Given the description of an element on the screen output the (x, y) to click on. 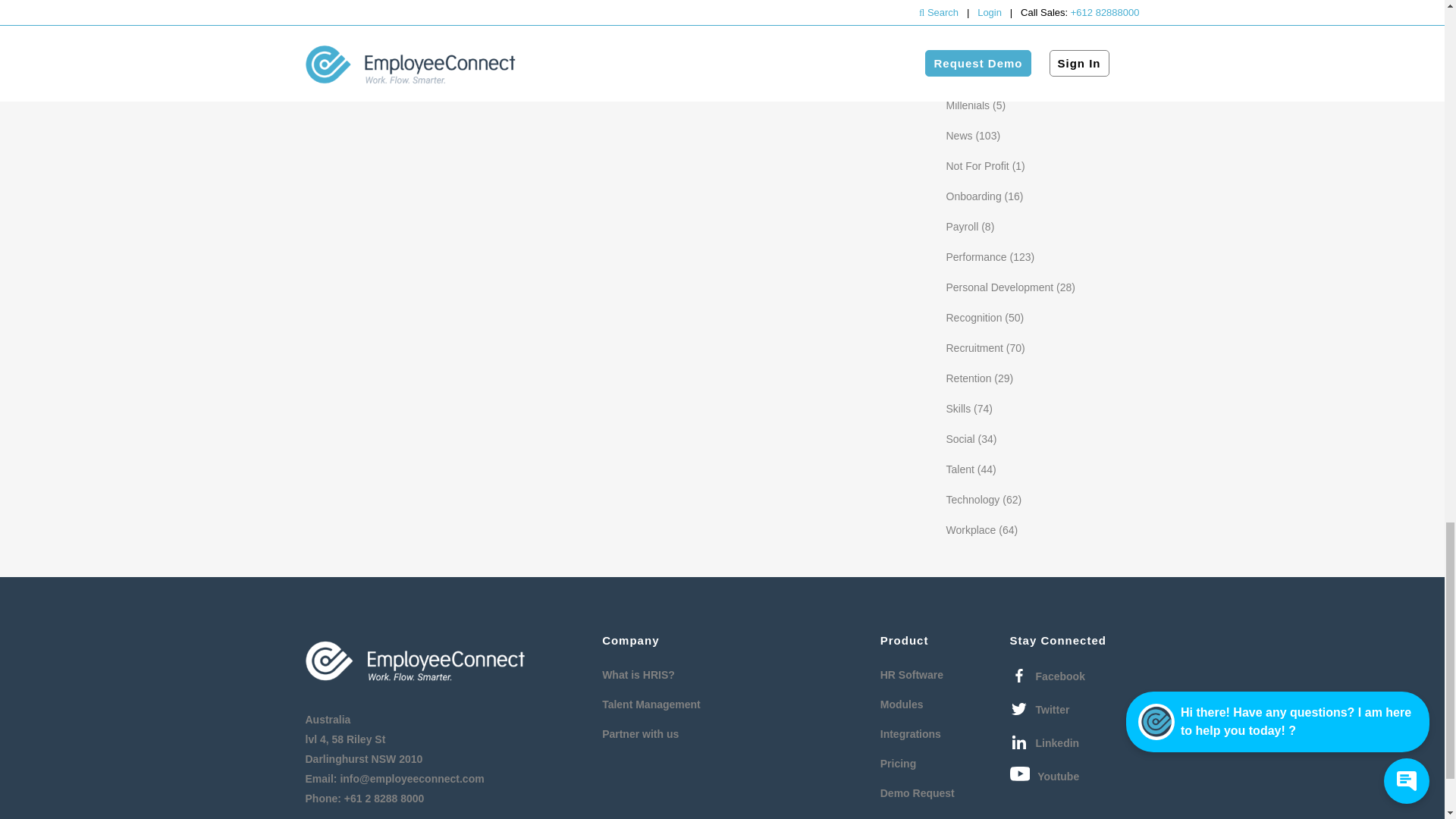
YouTube (1045, 776)
Twitter (1040, 709)
LinkedIn (1045, 742)
Facebook (1047, 676)
